Given the description of an element on the screen output the (x, y) to click on. 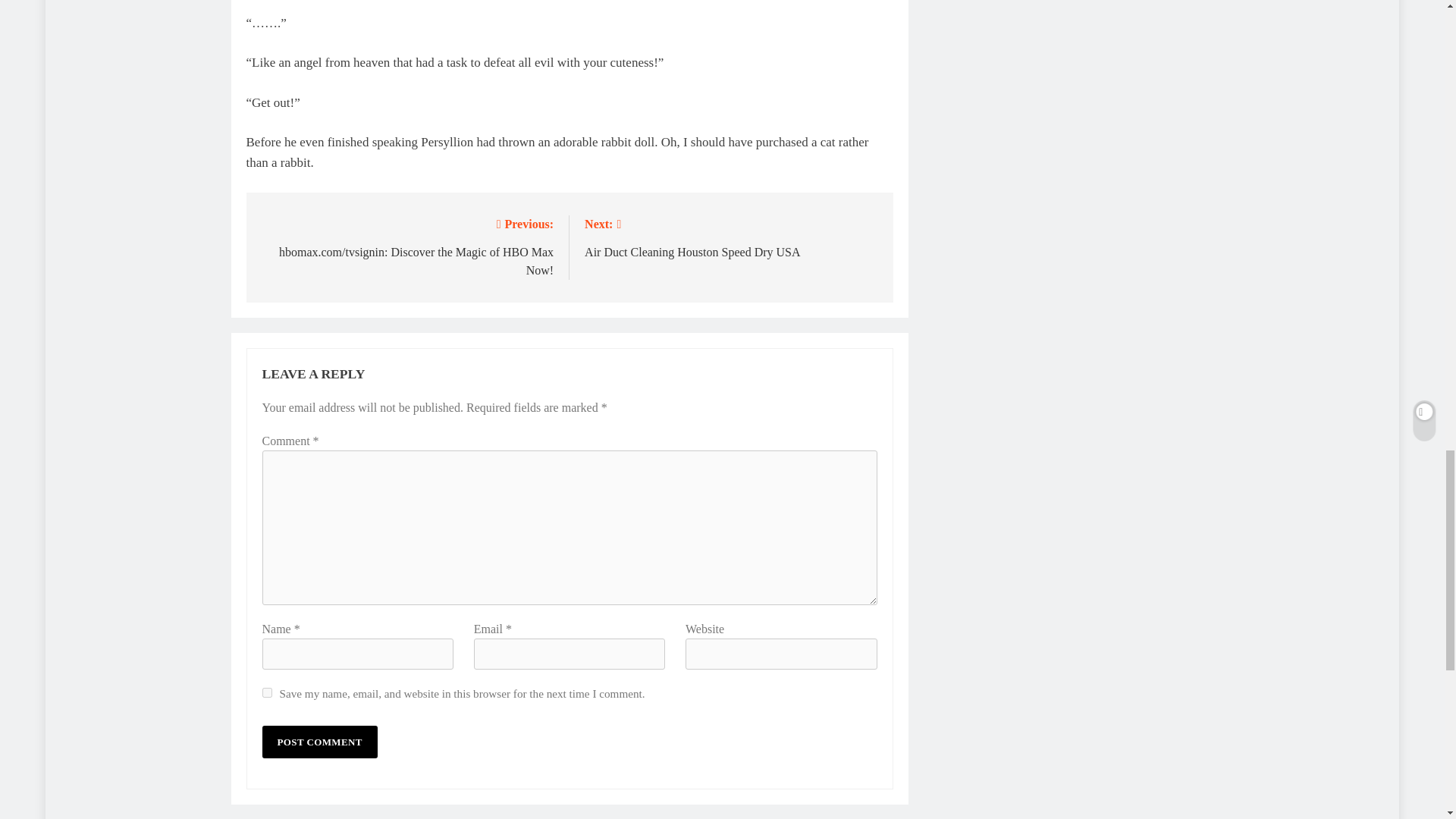
Post Comment (319, 741)
Post Comment (319, 741)
yes (267, 692)
